Given the description of an element on the screen output the (x, y) to click on. 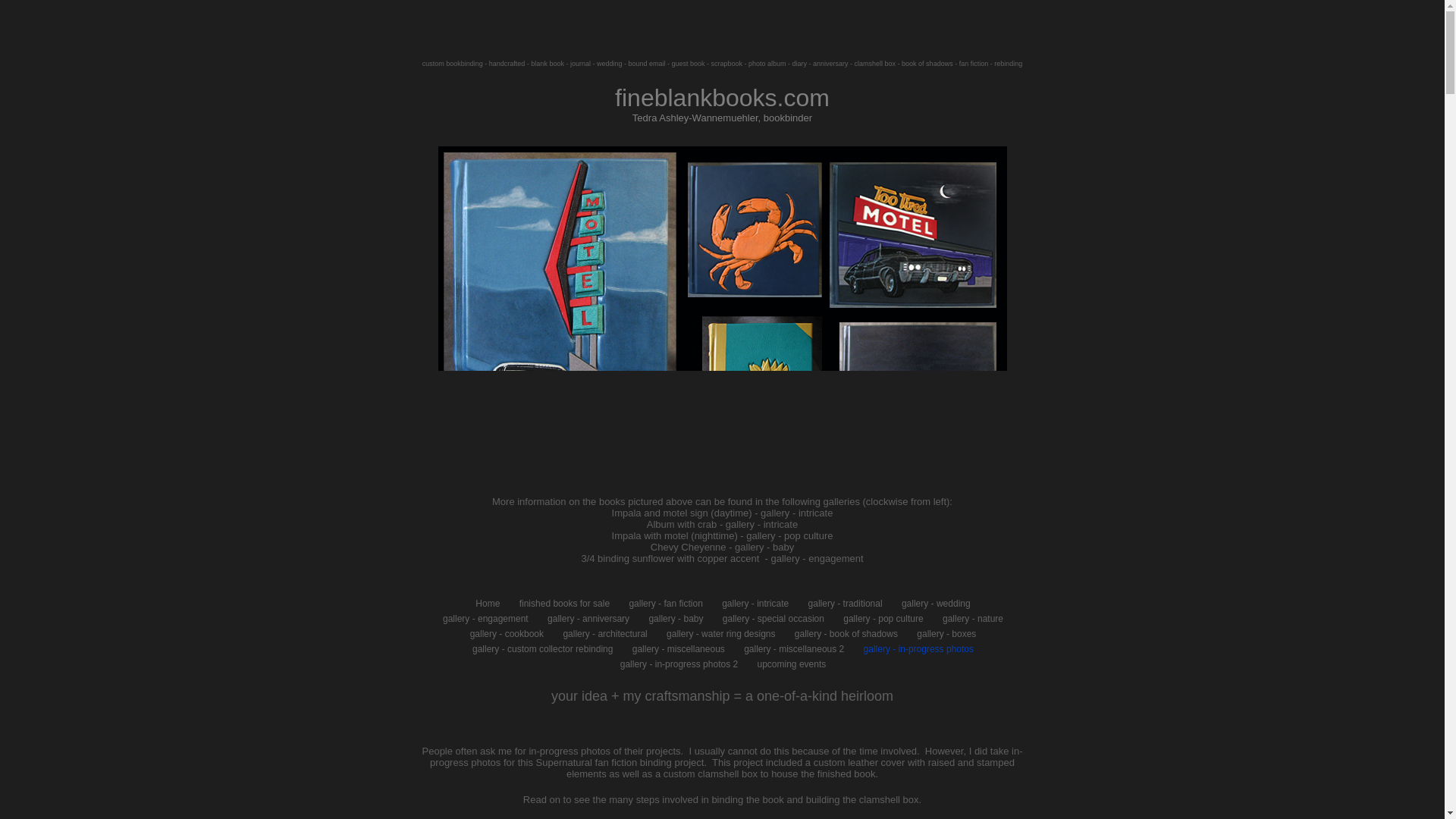
gallery - pop culture (882, 618)
gallery - engagement (485, 618)
gallery - miscellaneous 2 (794, 648)
gallery - book of shadows (846, 633)
gallery - wedding (935, 603)
gallery - in-progress photos 2 (679, 663)
gallery - baby (675, 618)
gallery - traditional (845, 603)
Home (486, 603)
gallery - anniversary (587, 618)
